Given the description of an element on the screen output the (x, y) to click on. 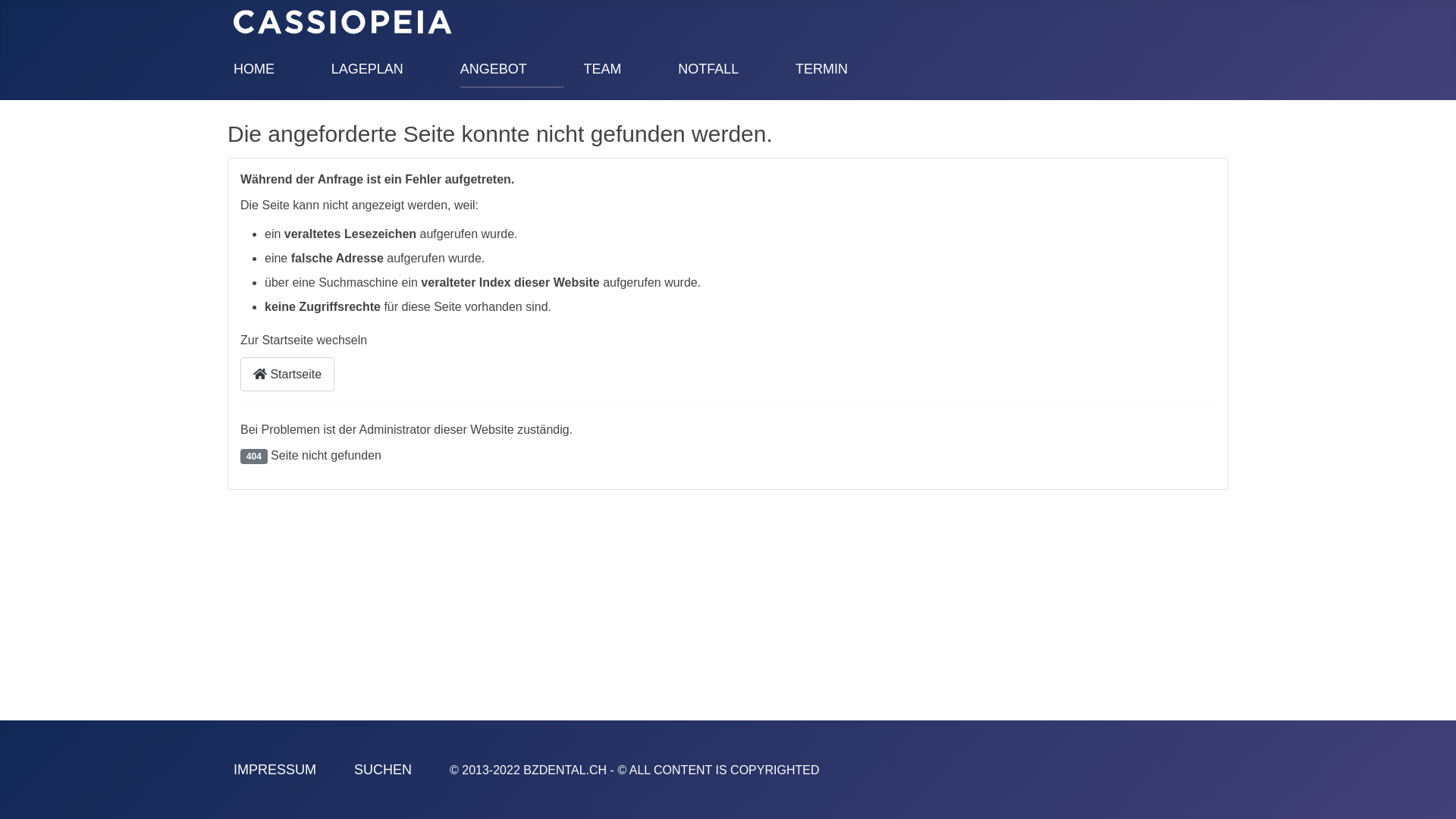
IMPRESSUM Element type: text (274, 769)
TERMIN Element type: text (821, 68)
SUCHEN Element type: text (382, 769)
ANGEBOT Element type: text (493, 68)
LAGEPLAN Element type: text (367, 68)
NOTFALL Element type: text (707, 68)
TEAM Element type: text (602, 68)
Startseite Element type: text (287, 374)
HOME Element type: text (253, 68)
